Given the description of an element on the screen output the (x, y) to click on. 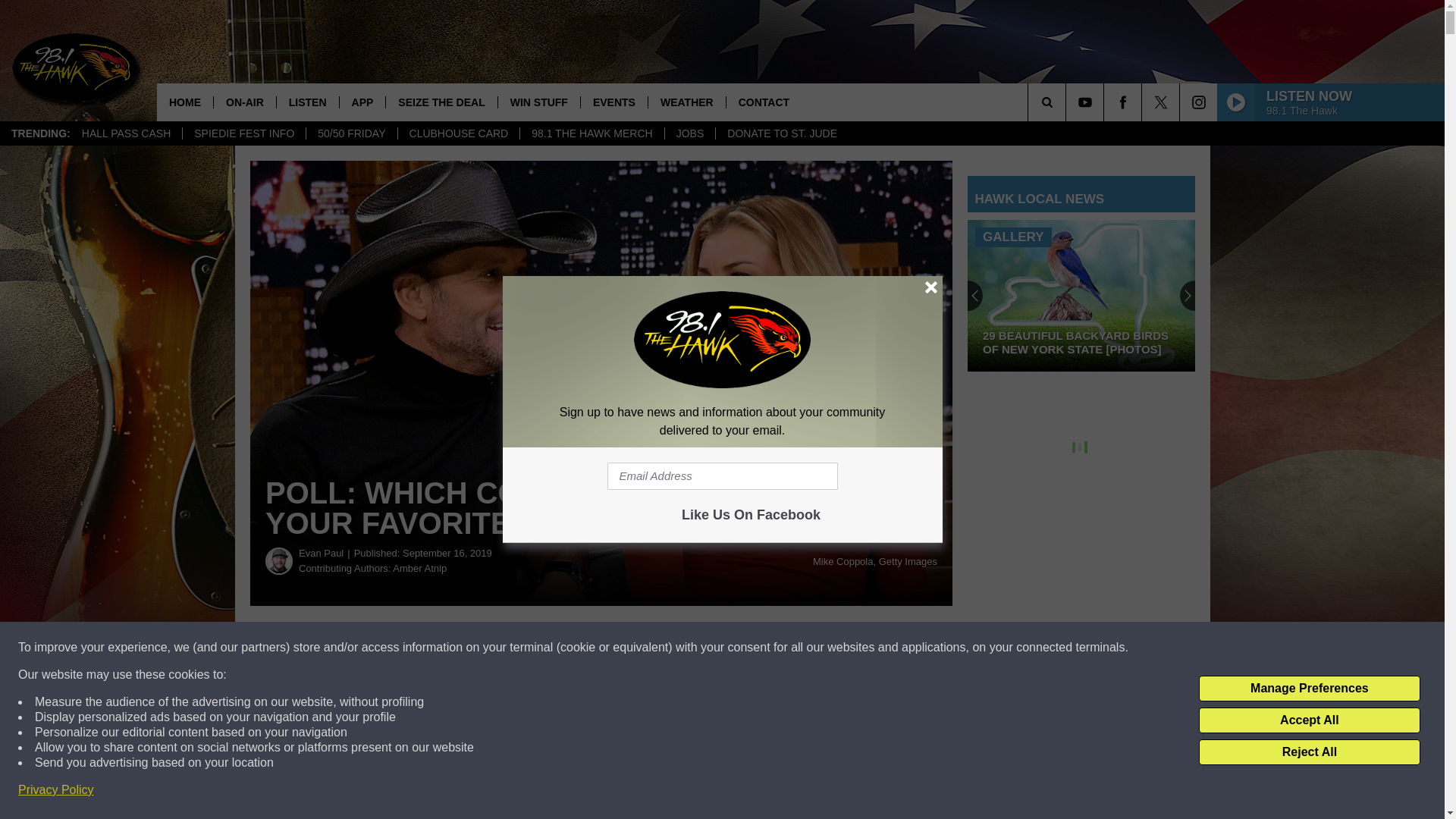
WIN STUFF (538, 102)
LISTEN (307, 102)
SEIZE THE DEAL (440, 102)
HOME (184, 102)
JOBS (689, 133)
ON-AIR (244, 102)
CLUBHOUSE CARD (458, 133)
Privacy Policy (55, 789)
APP (362, 102)
SEARCH (1068, 102)
HALL PASS CASH (126, 133)
Reject All (1309, 751)
Manage Preferences (1309, 688)
Share on Facebook (460, 647)
98.1 THE HAWK MERCH (591, 133)
